Given the description of an element on the screen output the (x, y) to click on. 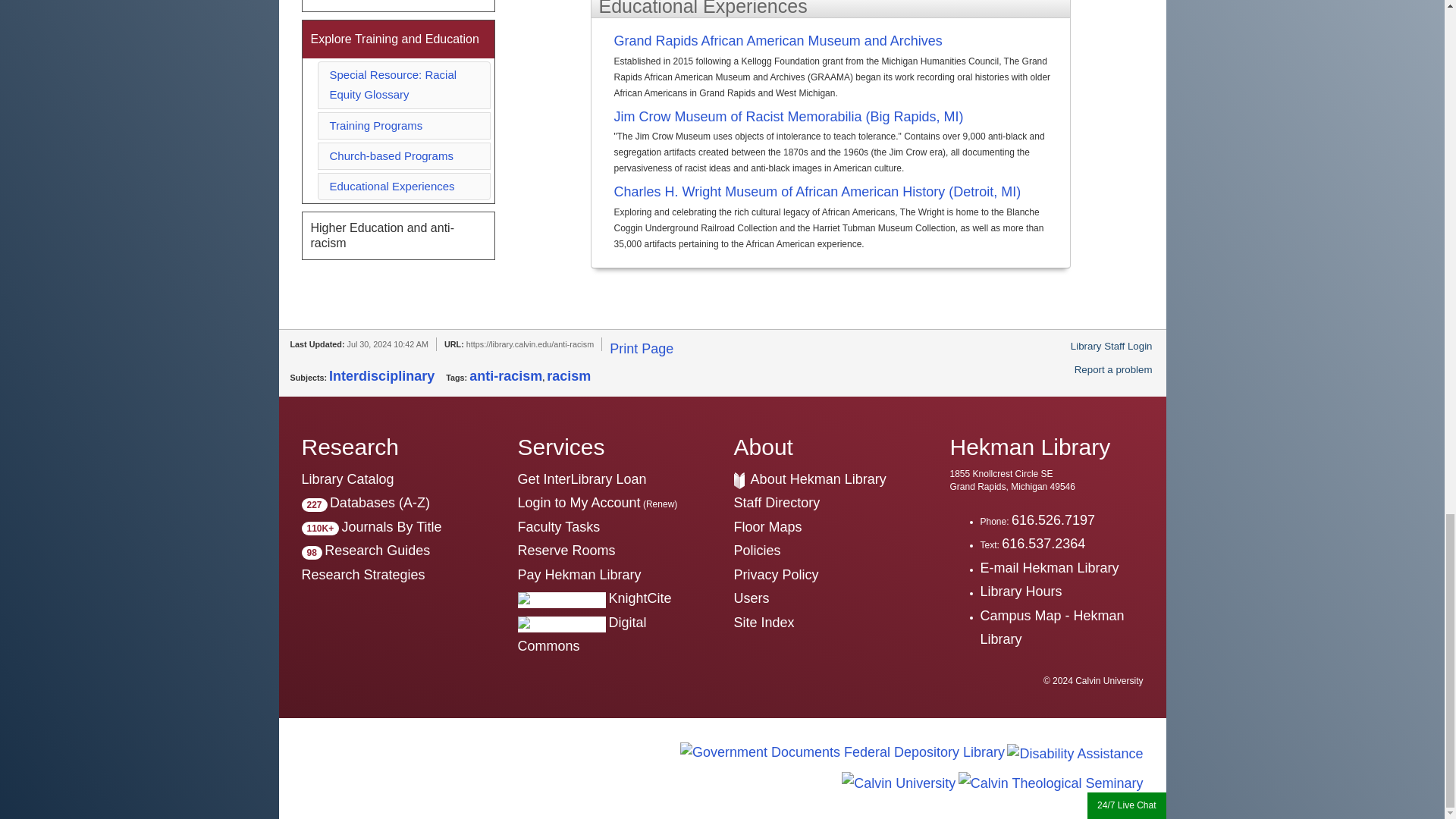
Renew and Review Checked Out Items and Fines (578, 502)
Disability Assistance (1074, 751)
Grand Rapids African American Museum and Archives (838, 42)
Government Documents Federal Depository Library (841, 751)
A-Z index of all public pages (763, 622)
